Given the description of an element on the screen output the (x, y) to click on. 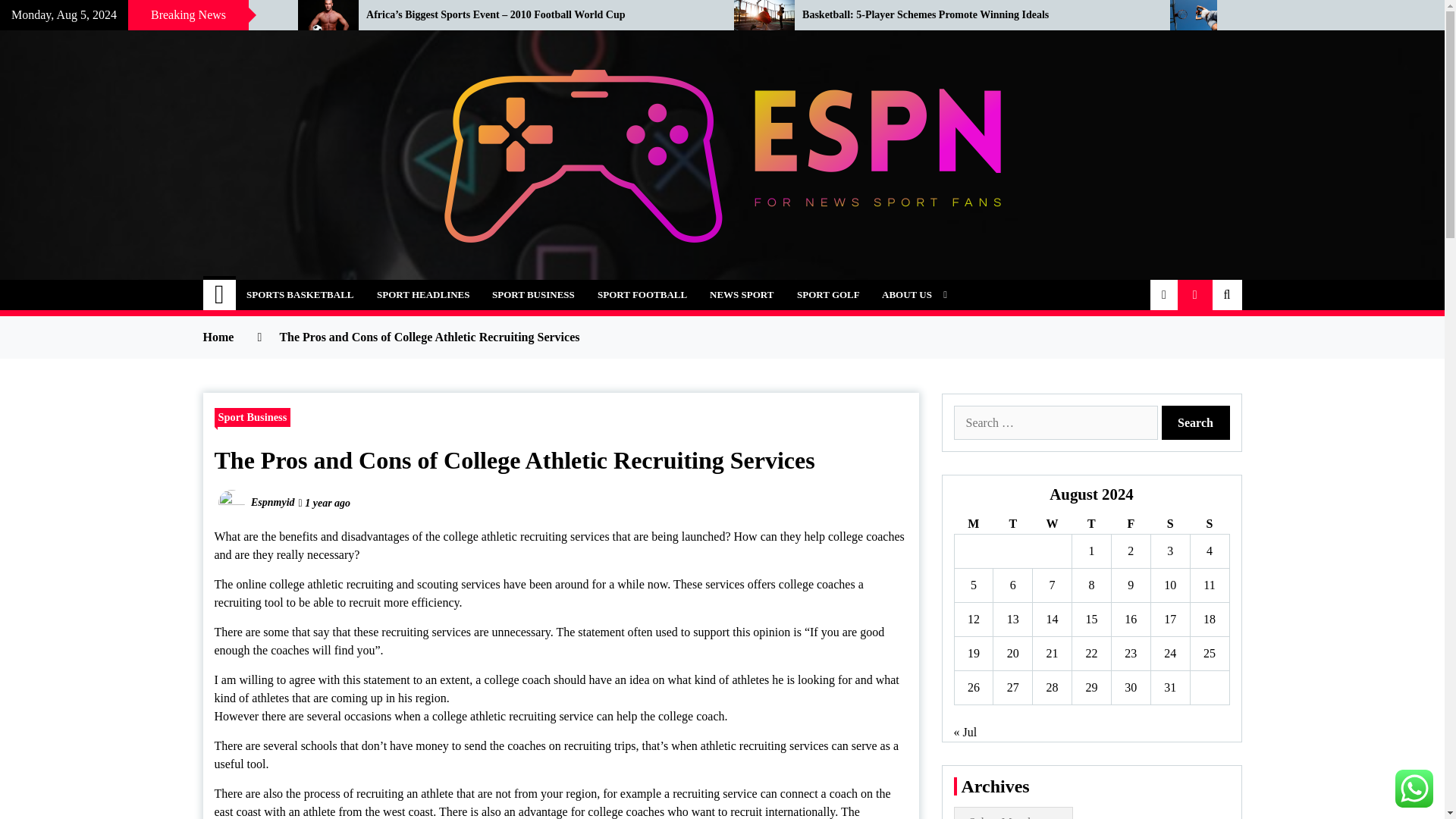
Monday (972, 524)
Home (219, 295)
Search (1195, 422)
Search (1195, 422)
Sunday (1208, 524)
Tuesday (1012, 524)
Horse Racing Basics (137, 15)
Basketball: 5-Player Schemes Promote Winning Ideals (974, 15)
Friday (1130, 524)
Thursday (1091, 524)
Saturday (1169, 524)
Wednesday (1051, 524)
